Given the description of an element on the screen output the (x, y) to click on. 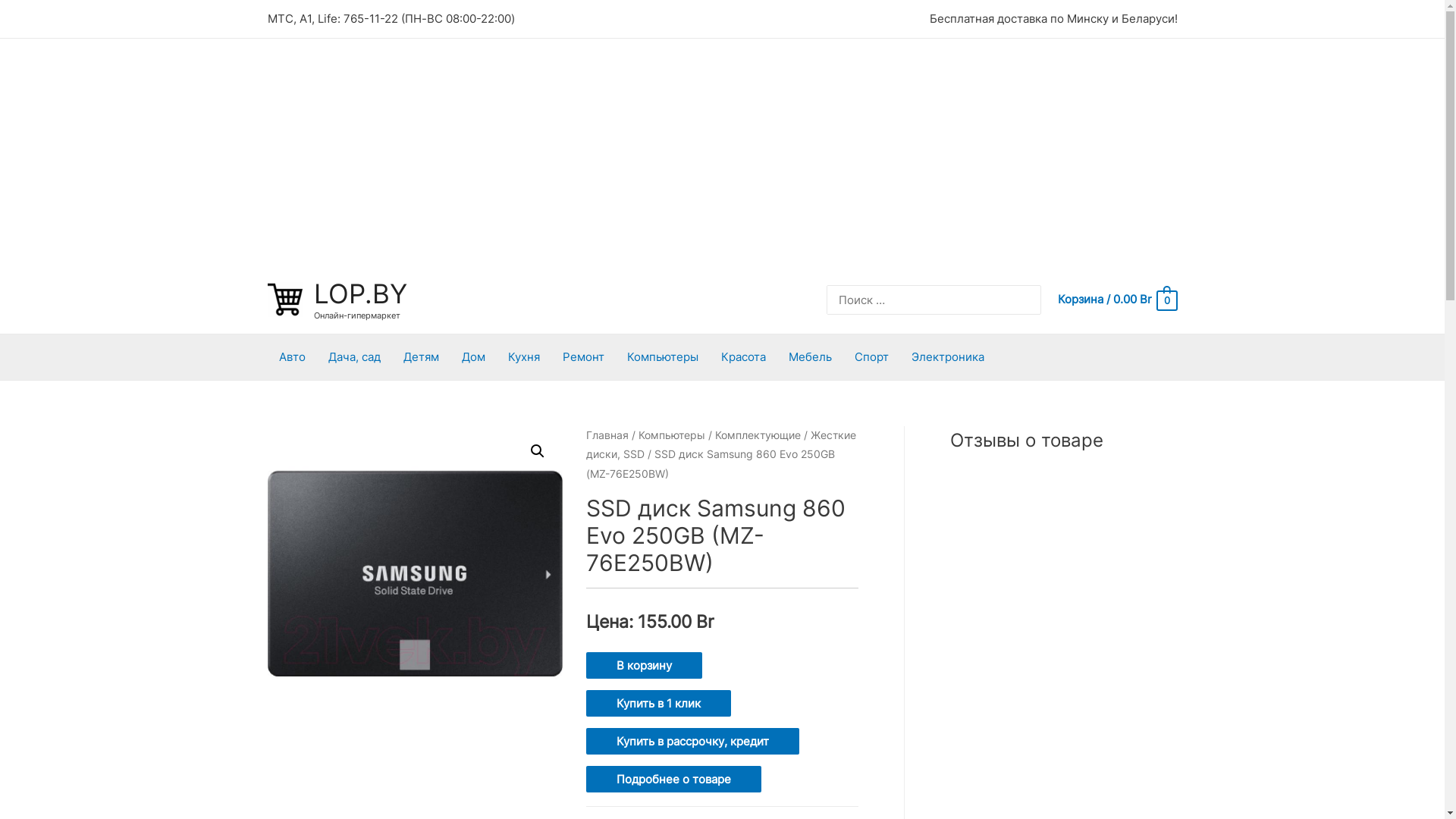
LOP.BY Element type: text (360, 293)
Advertisement Element type: hover (721, 152)
